Given the description of an element on the screen output the (x, y) to click on. 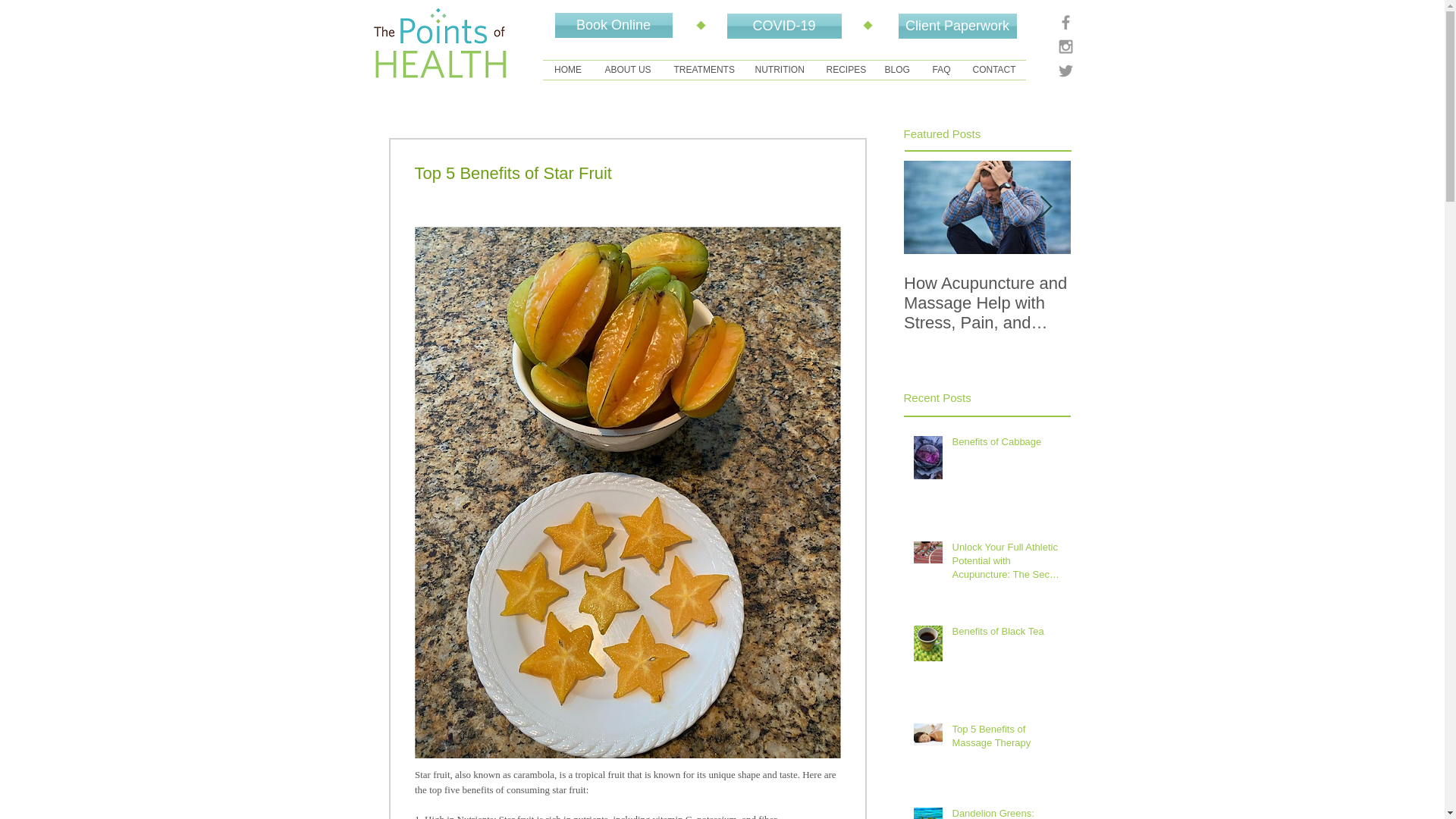
CONTACT (993, 69)
ABOUT US (627, 69)
Benefits of Cabbage (1006, 444)
RECIPES (842, 69)
Easy Beef Stir Fry Recipe (1153, 292)
BLOG (897, 69)
Maitland Acupuncture (440, 43)
Client Paperwork (957, 25)
Book Online (613, 25)
Benefits of Black Tea (1006, 634)
Dandelion Greens: Surprising Health Benefits (1006, 812)
FAQ (940, 69)
Top 5 Benefits of Massage Therapy (1006, 738)
